Given the description of an element on the screen output the (x, y) to click on. 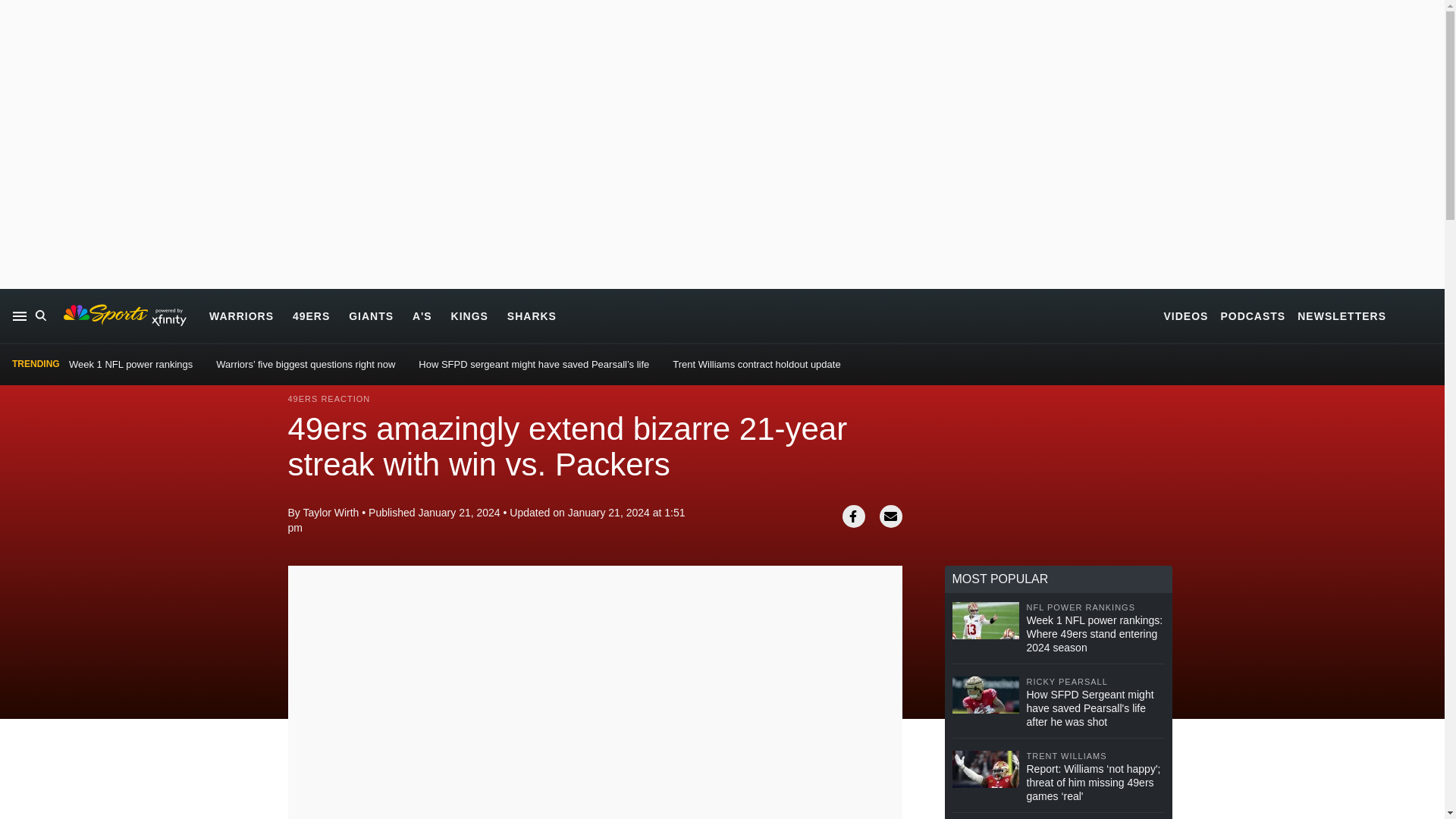
SHARKS (531, 315)
RICKY PEARSALL (1095, 681)
KINGS (469, 315)
VIDEOS (1185, 315)
49ERS REACTION (329, 398)
GIANTS (371, 315)
NFL POWER RANKINGS (1095, 607)
Taylor Wirth (330, 512)
A'S (422, 315)
